Given the description of an element on the screen output the (x, y) to click on. 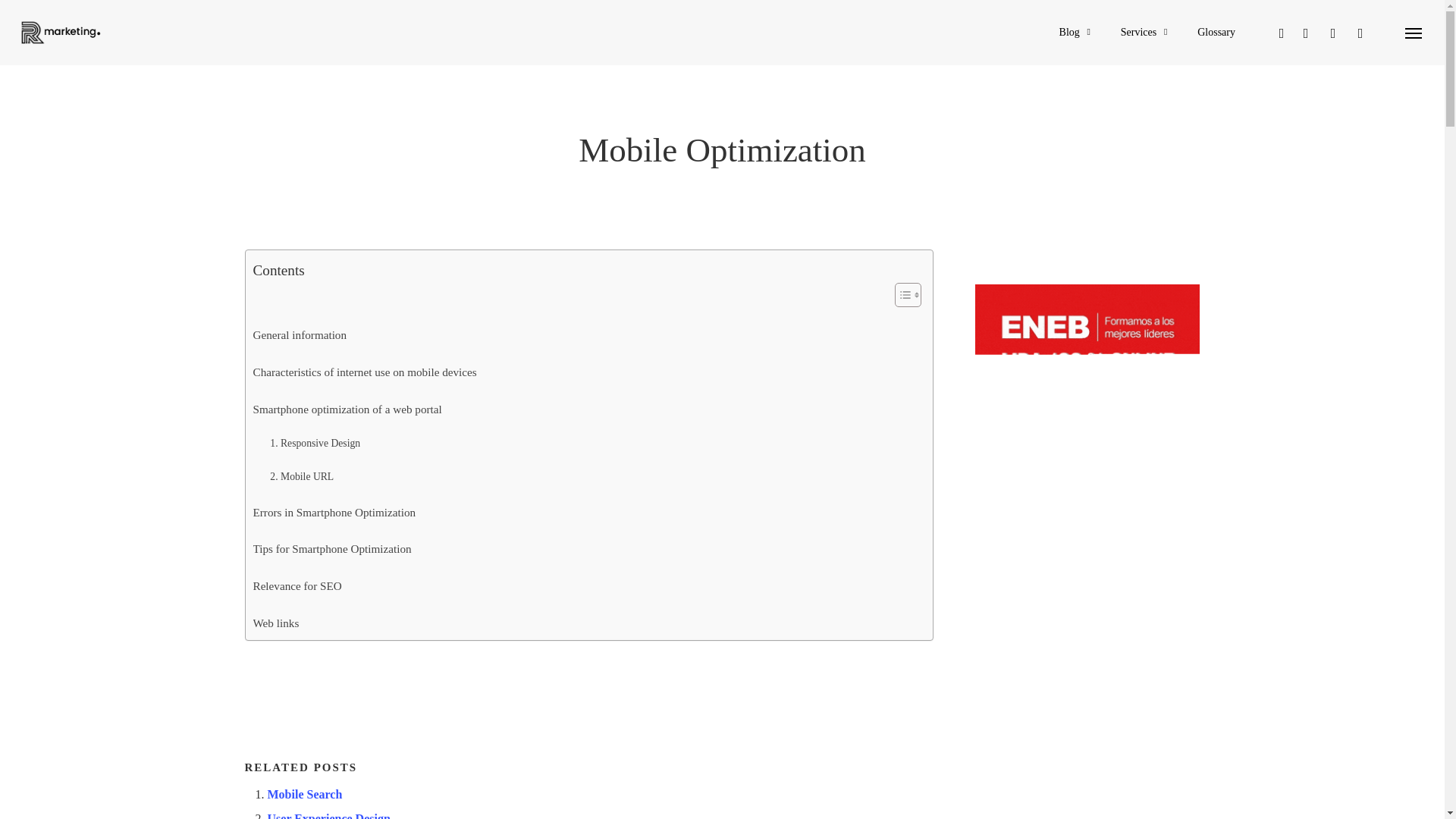
Web links  (276, 613)
Blog (1077, 32)
1. Responsive Design  (314, 435)
Mobile Search (304, 793)
2. Mobile URL  (301, 468)
General information  (300, 325)
Characteristics of internet use on mobile devices  (365, 363)
Errors in Smartphone Optimization  (334, 502)
User Experience Design (328, 815)
Smartphone optimization of a web portal  (347, 399)
Relevance for SEO  (297, 577)
Tips for Smartphone Optimization  (332, 539)
